Given the description of an element on the screen output the (x, y) to click on. 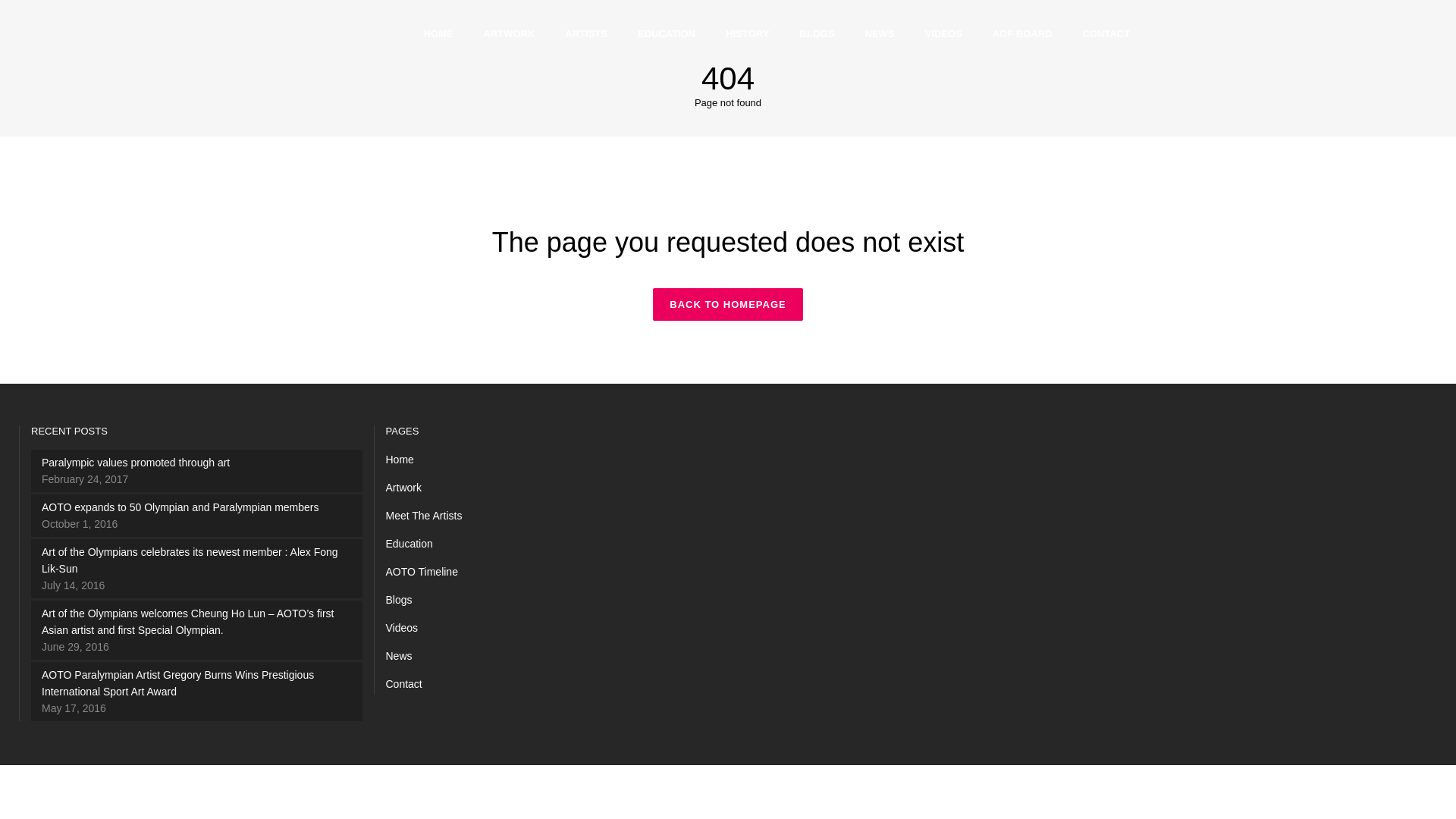
ARTWORK (508, 33)
ARTISTS (586, 33)
